Given the description of an element on the screen output the (x, y) to click on. 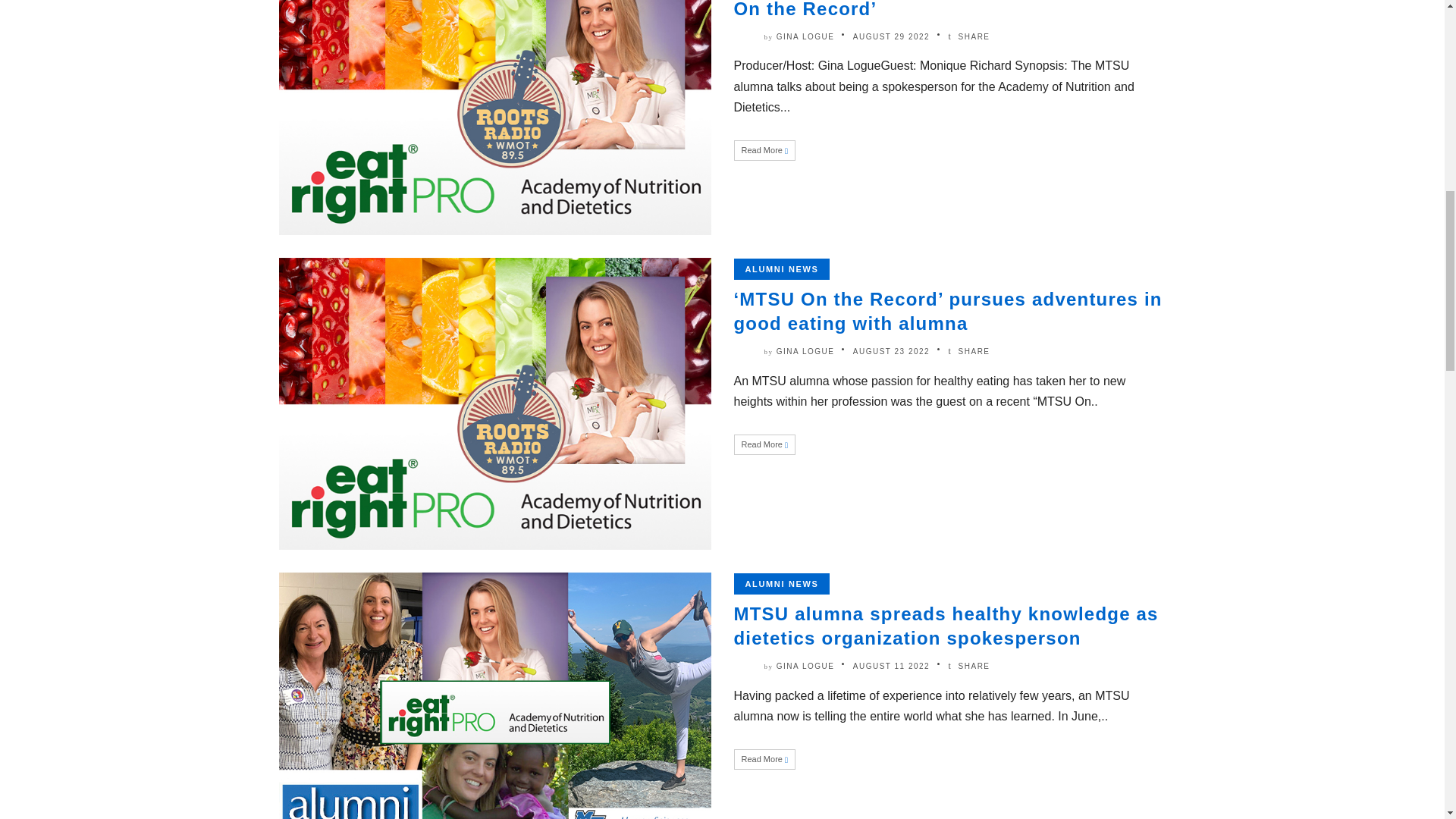
Posts by Gina Logue (805, 351)
August 29, 2022 11:00 (891, 36)
Posts by Gina Logue (805, 36)
August 11, 2022 11:31 (891, 665)
Posts by Gina Logue (805, 665)
August 23, 2022 9:00 (891, 351)
